Given the description of an element on the screen output the (x, y) to click on. 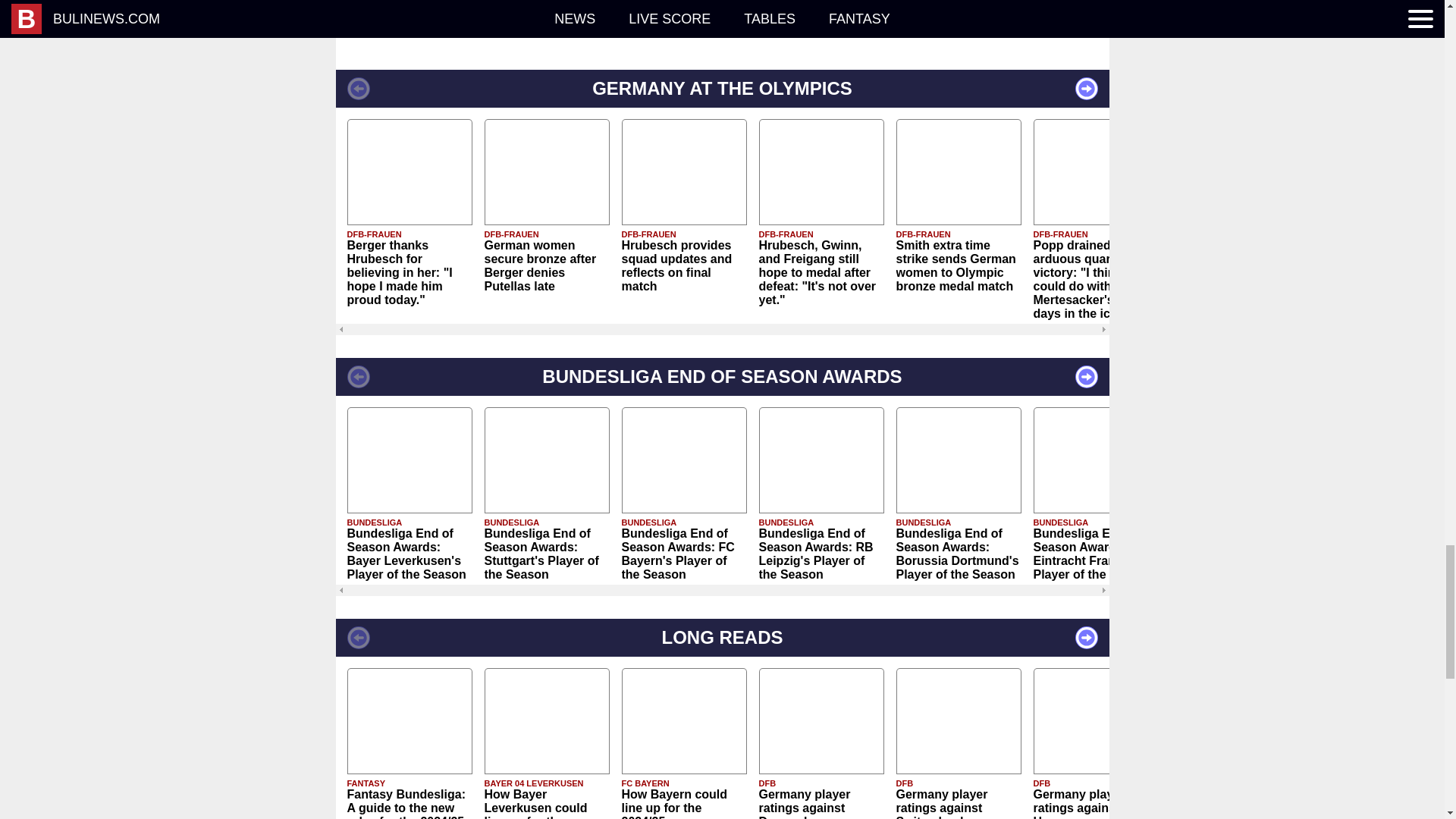
BUNDESLIGA END OF SEASON AWARDS (721, 376)
GERMANY AT THE OLYMPICS (721, 88)
LONG READS (721, 637)
